Given the description of an element on the screen output the (x, y) to click on. 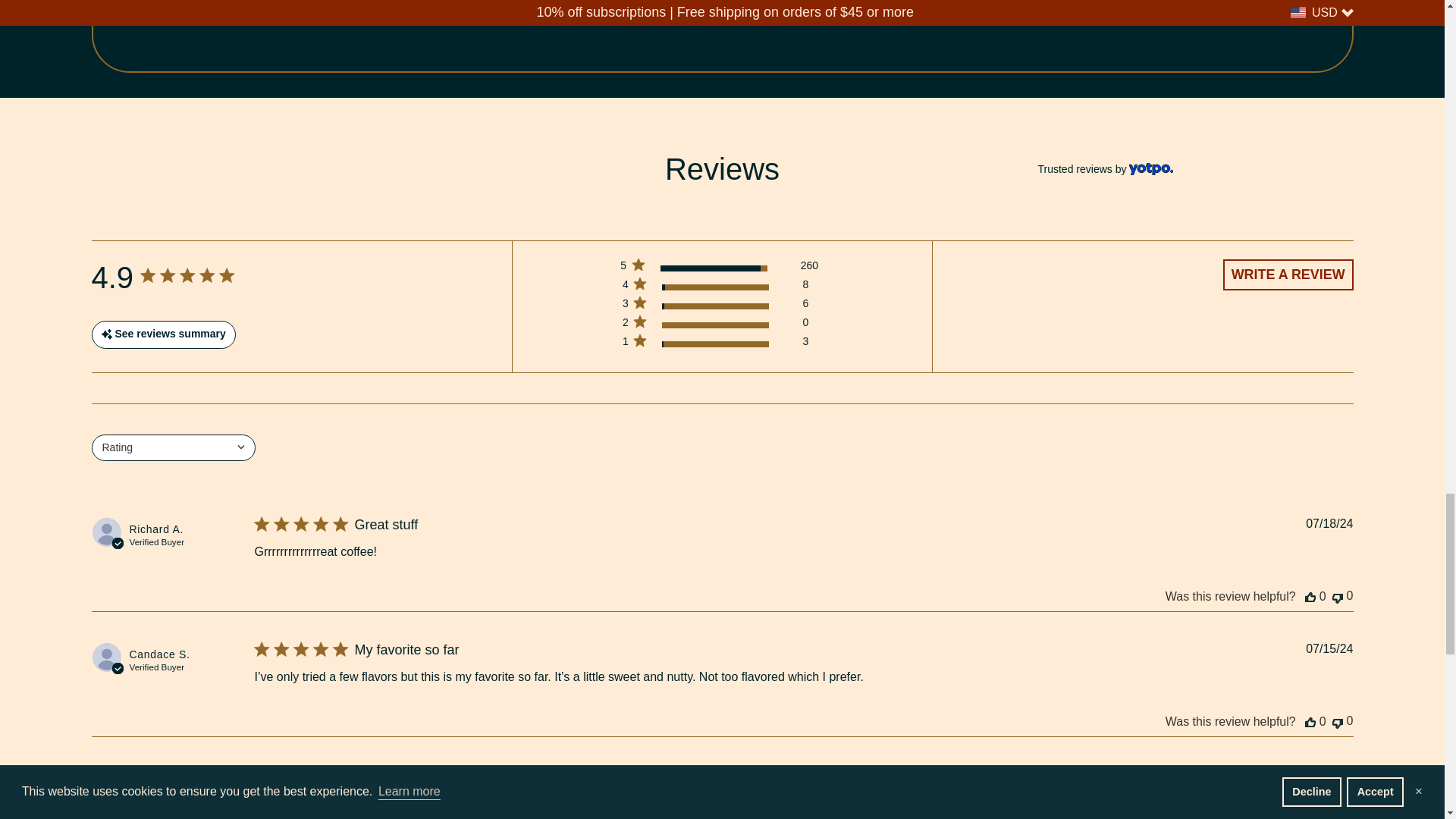
Shelly D. (152, 779)
Candace S. (159, 654)
Richard A. (156, 529)
